Given the description of an element on the screen output the (x, y) to click on. 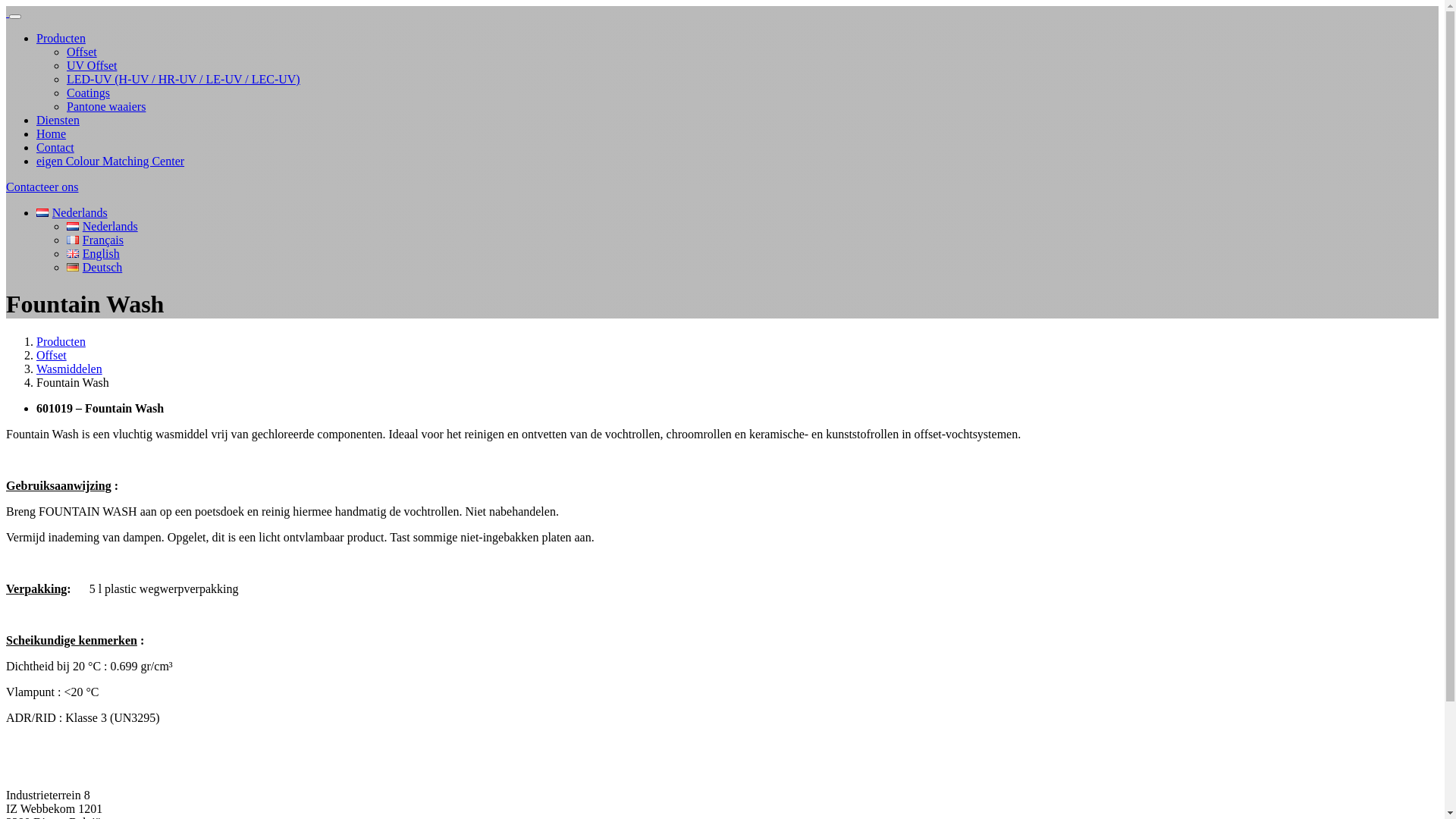
Contact Element type: text (55, 147)
Contacteer ons Element type: text (42, 186)
Deutsch Element type: hover (72, 267)
UV Offset Element type: text (91, 65)
eigen Colour Matching Center Element type: text (110, 160)
Producten Element type: text (60, 341)
Diensten Element type: text (57, 119)
Coatings Element type: text (87, 92)
English Element type: text (92, 253)
Deutsch Element type: text (94, 266)
Nederlands Element type: hover (42, 212)
Pantone waaiers Element type: text (105, 106)
English Element type: hover (72, 253)
Wasmiddelen Element type: text (69, 368)
Nederlands Element type: text (71, 212)
Offset Element type: text (81, 51)
Home Element type: text (50, 133)
Nederlands Element type: text (102, 225)
LED-UV (H-UV / HR-UV / LE-UV / LEC-UV) Element type: text (183, 78)
Nederlands Element type: hover (72, 226)
Producten Element type: text (60, 37)
Offset Element type: text (51, 354)
